Given the description of an element on the screen output the (x, y) to click on. 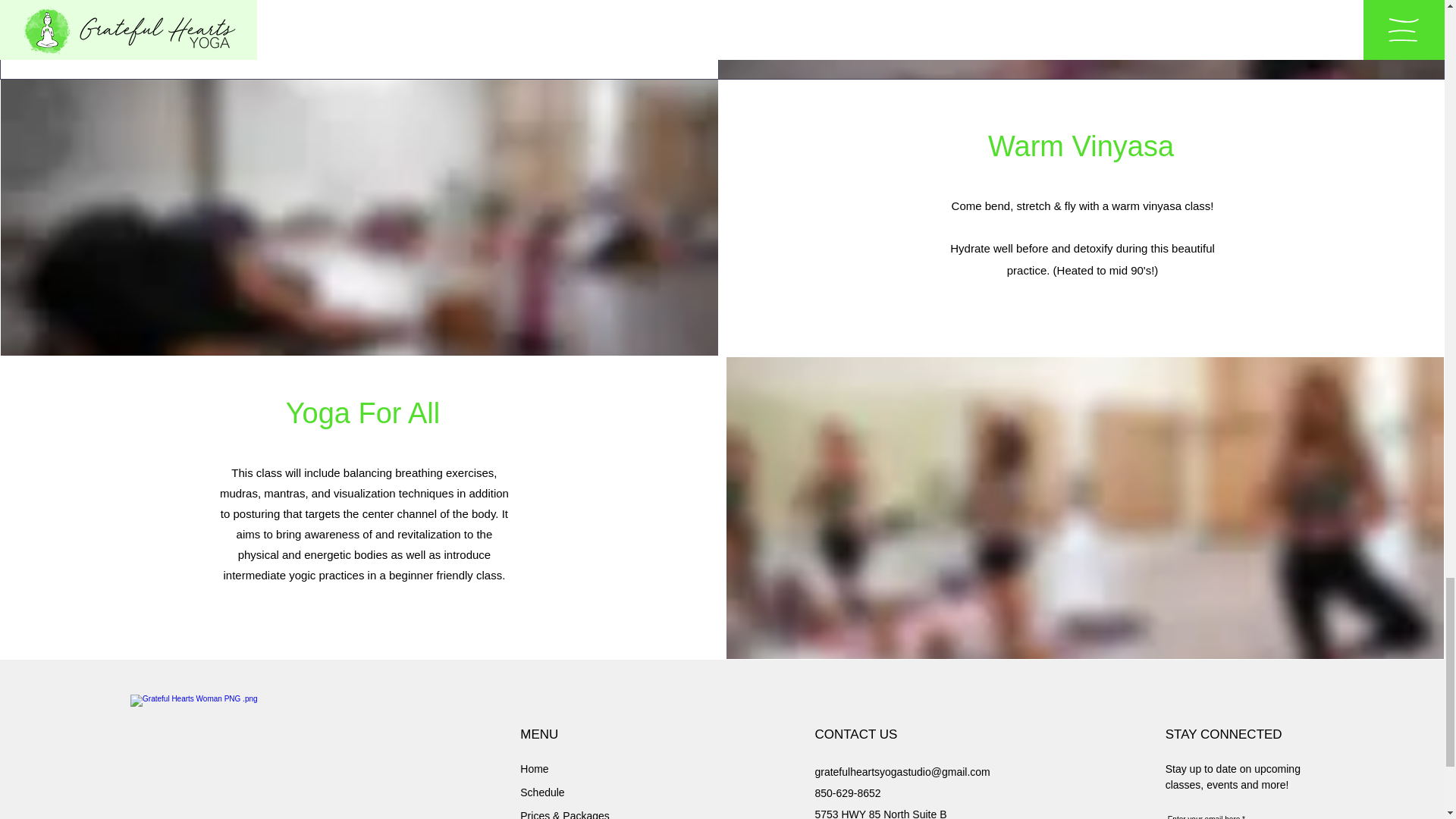
Schedule (541, 792)
Home (533, 768)
850-629-8652 (846, 793)
